Given the description of an element on the screen output the (x, y) to click on. 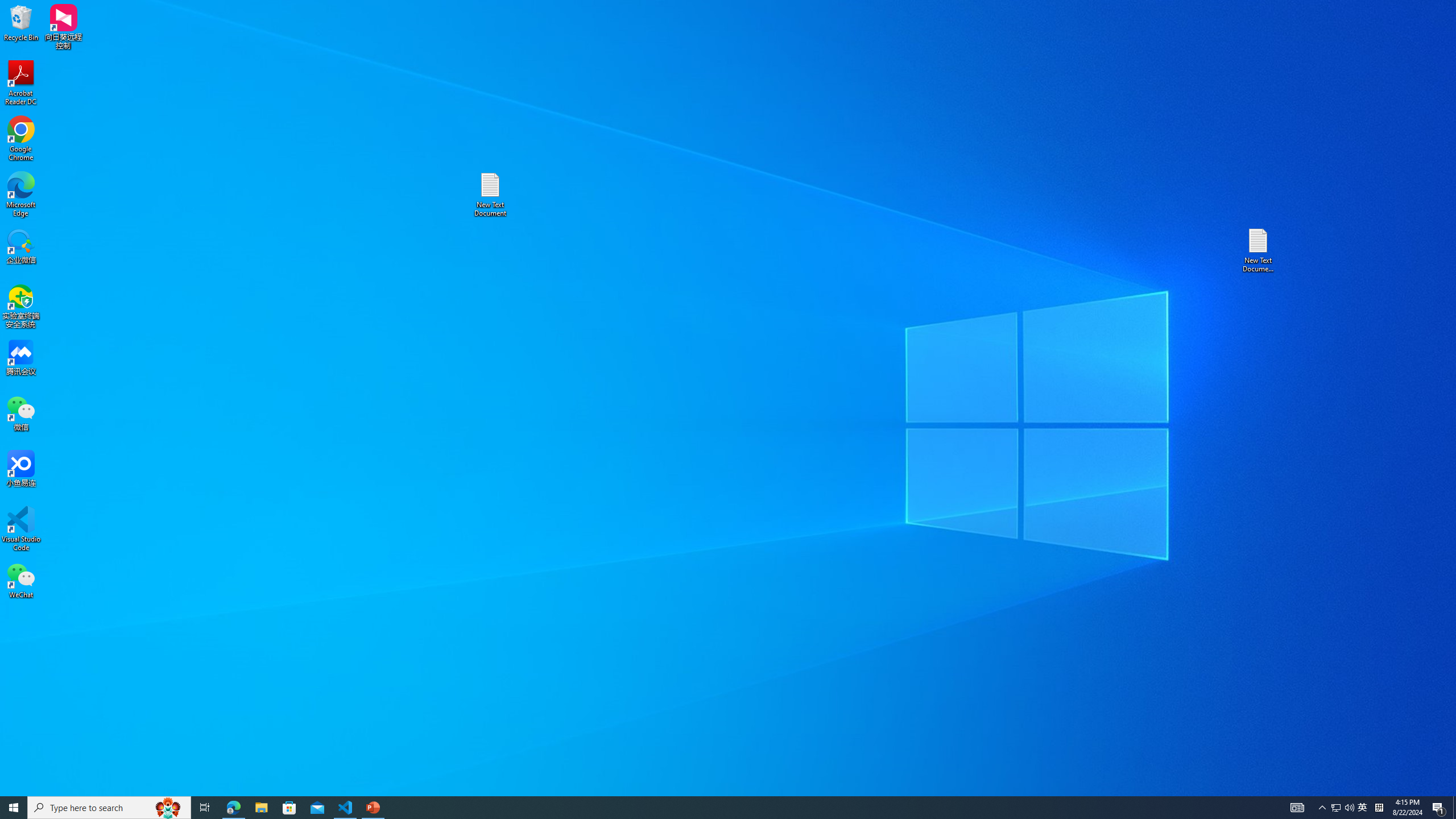
play Record a Presentation (1318, 395)
Screen Recording... (798, 58)
Object... (649, 58)
